Given the description of an element on the screen output the (x, y) to click on. 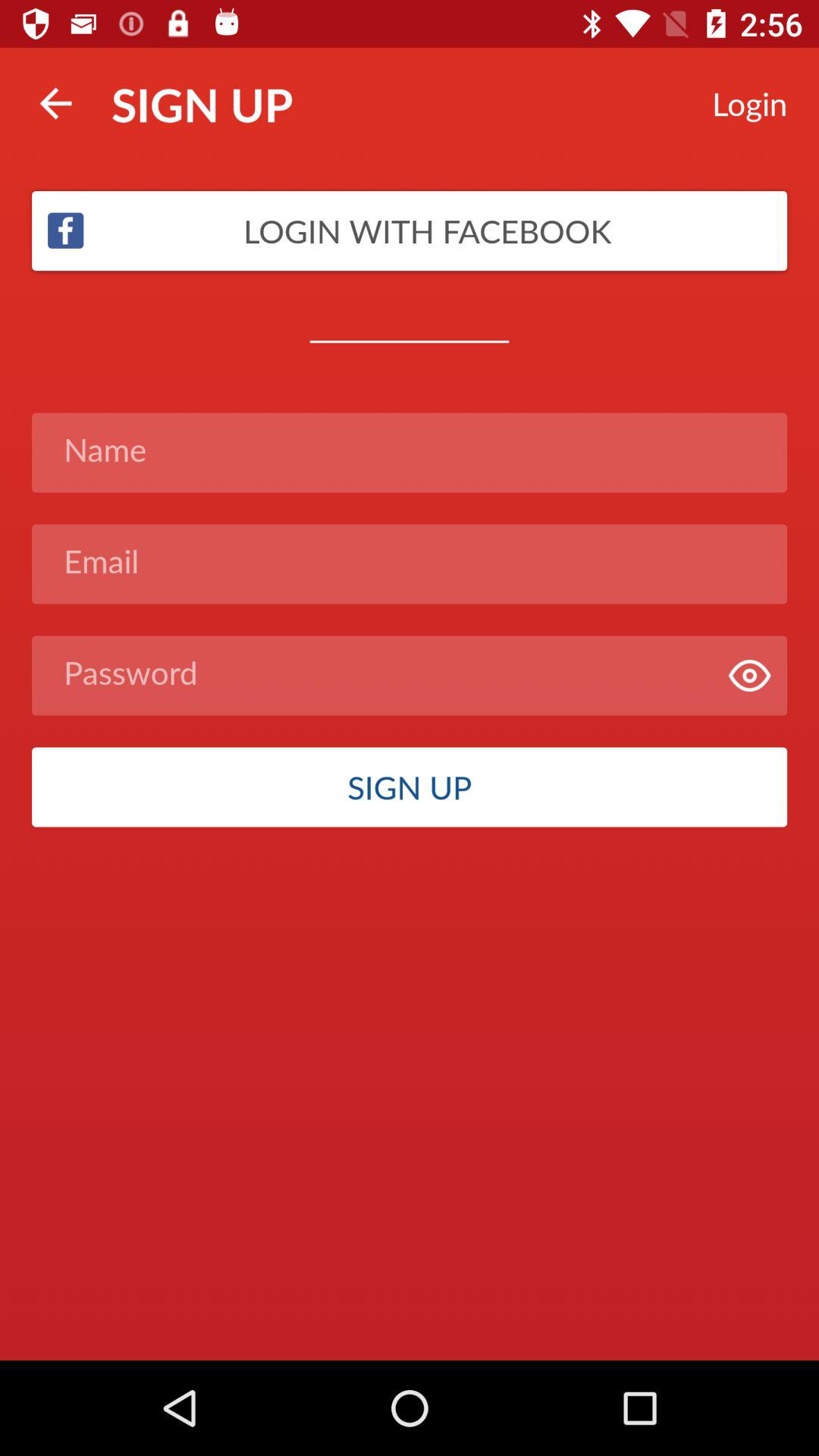
turn off item on the right (749, 675)
